Given the description of an element on the screen output the (x, y) to click on. 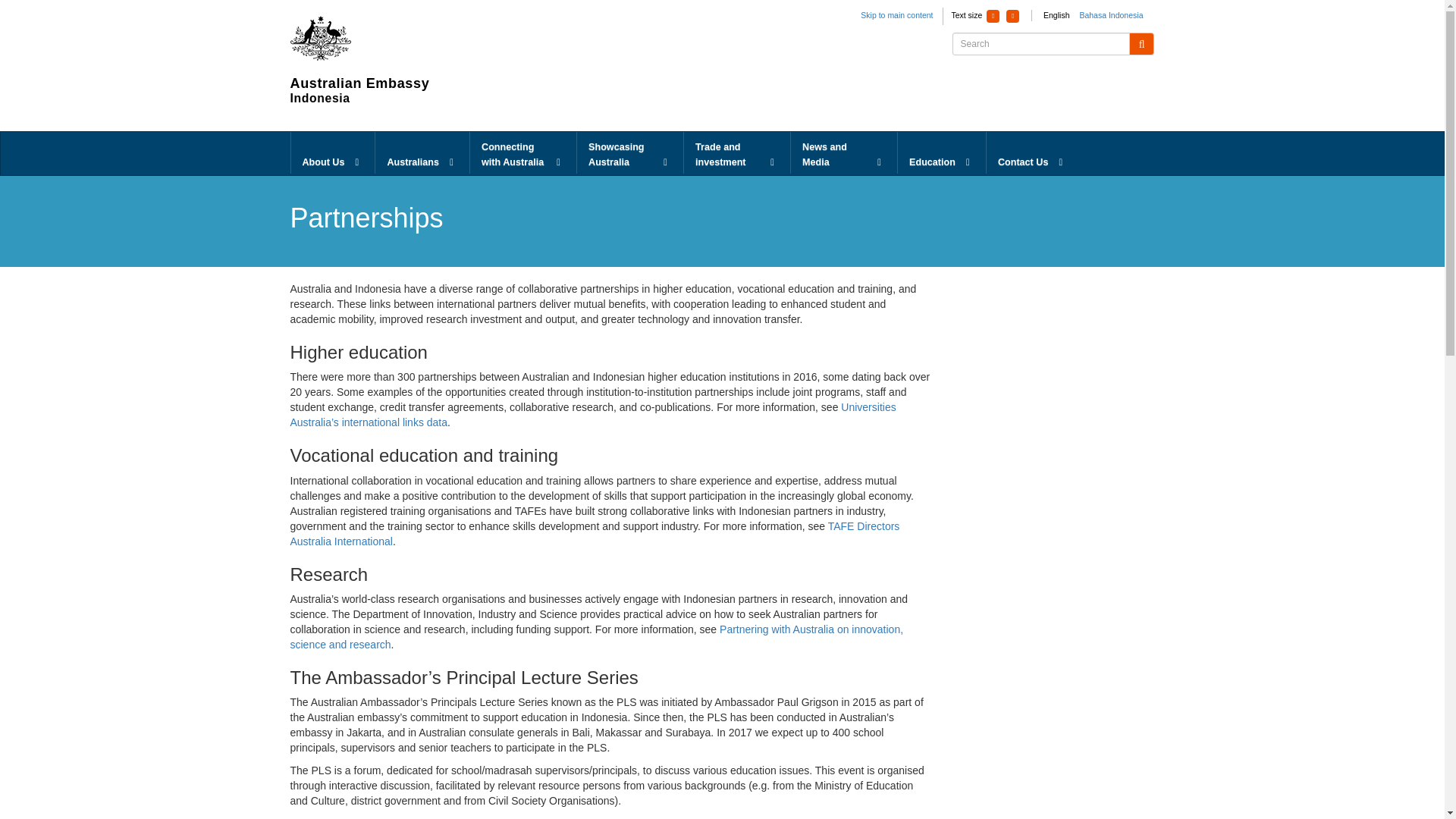
Bahasa Indonesia (1110, 14)
Skip to main content (896, 14)
Contact Us   (1032, 153)
Reduce text size. (992, 15)
Education   (941, 153)
About Us   (333, 153)
Trade and investment   (737, 153)
Australians   (421, 153)
TAFE Directors Australia International (594, 533)
Connecting with Australia   (523, 153)
